Given the description of an element on the screen output the (x, y) to click on. 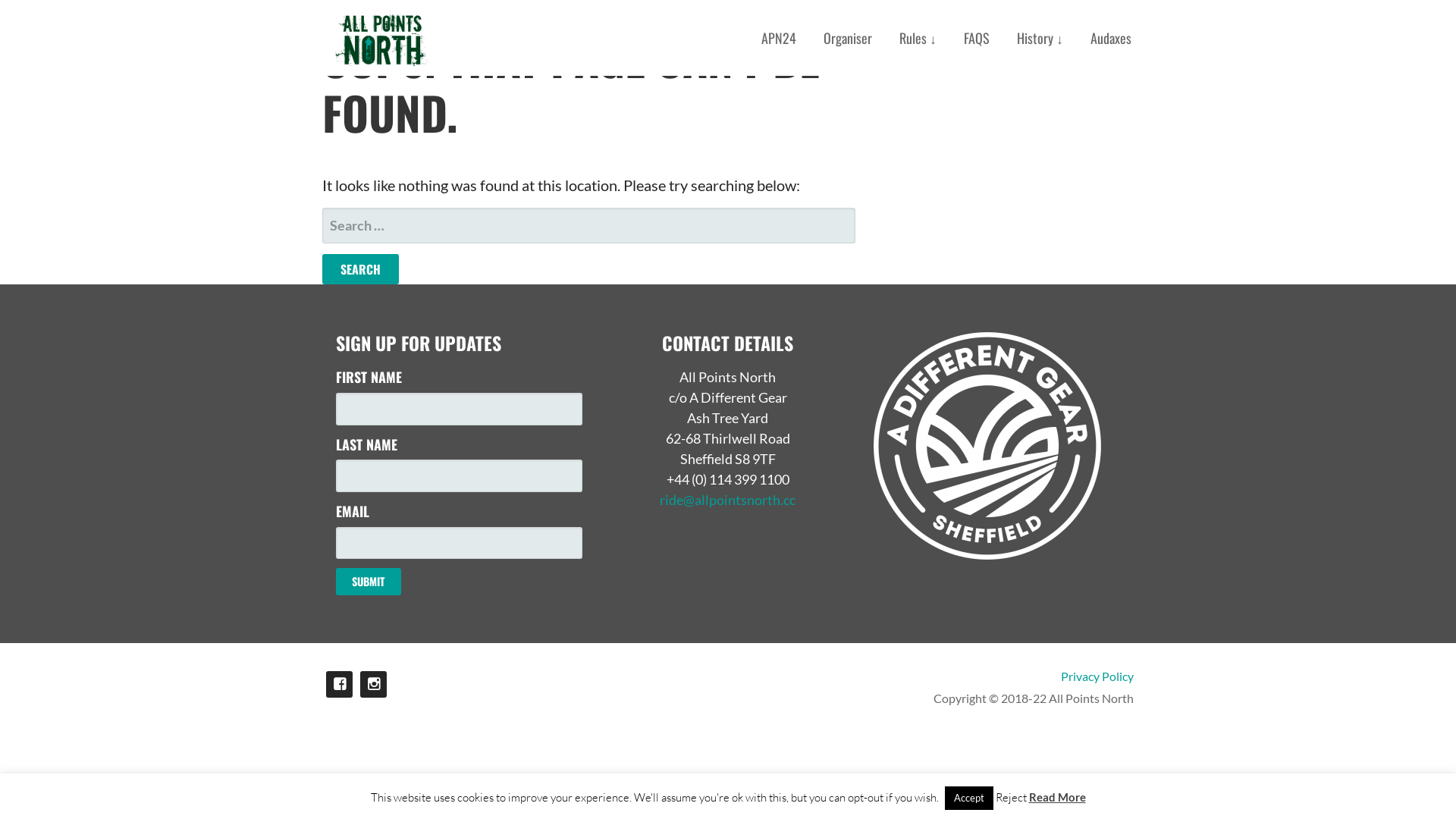
Organiser Element type: text (847, 37)
APN24 Element type: text (778, 37)
Search Element type: text (360, 268)
Accept Element type: text (968, 797)
ALL POINTS NORTH Element type: text (409, 86)
FAQS Element type: text (976, 37)
Reject Element type: text (1010, 797)
ride@allpointsnorth.cc Element type: text (727, 499)
SUBMIT Element type: text (368, 581)
INSTAGRAM Element type: text (373, 684)
Read More Element type: text (1056, 796)
Privacy Policy Element type: text (831, 676)
Audaxes Element type: text (1110, 37)
FACEBOOK Element type: text (339, 684)
